Given the description of an element on the screen output the (x, y) to click on. 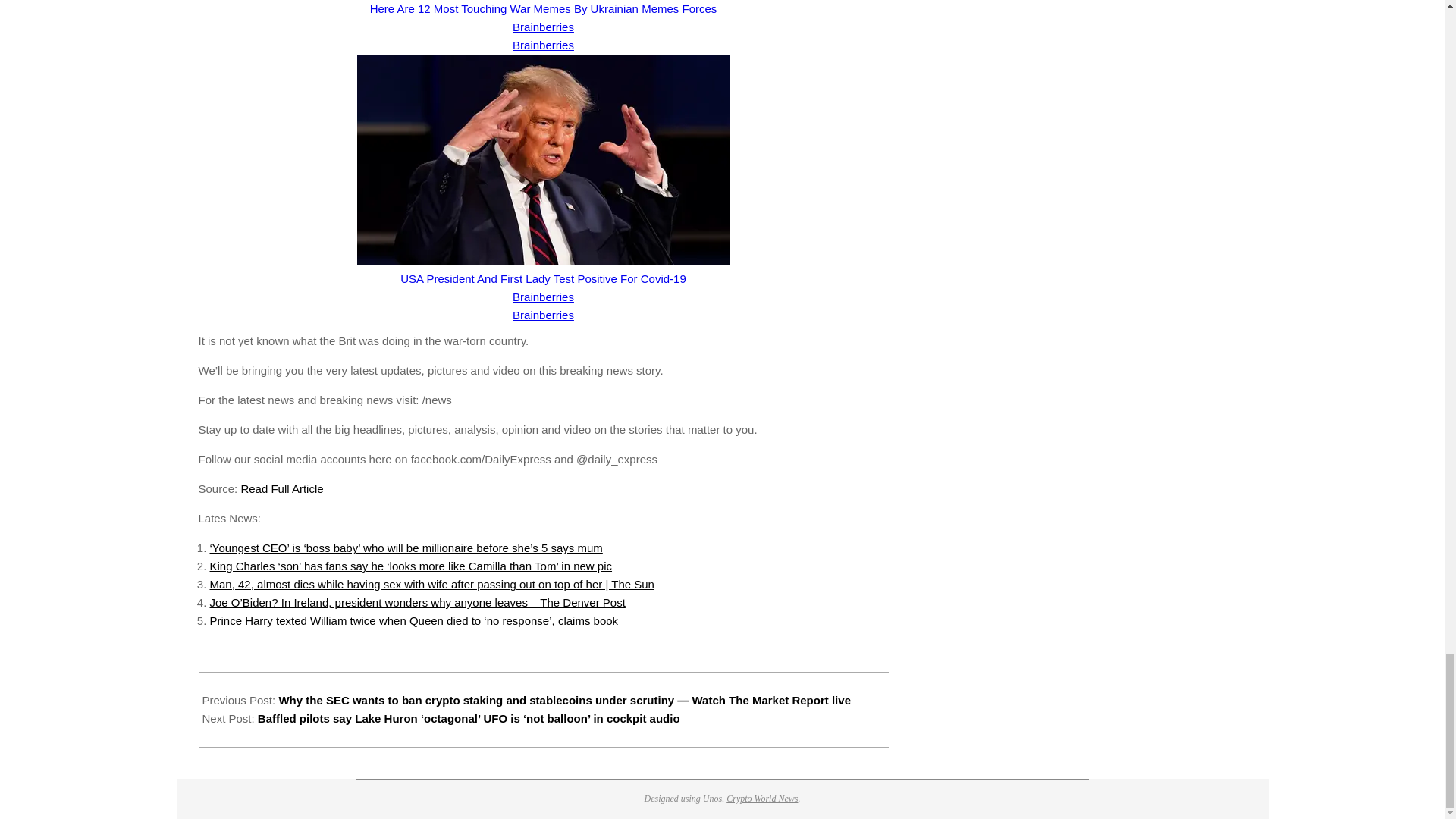
Crypto World News (761, 798)
Read Full Article (281, 488)
